Given the description of an element on the screen output the (x, y) to click on. 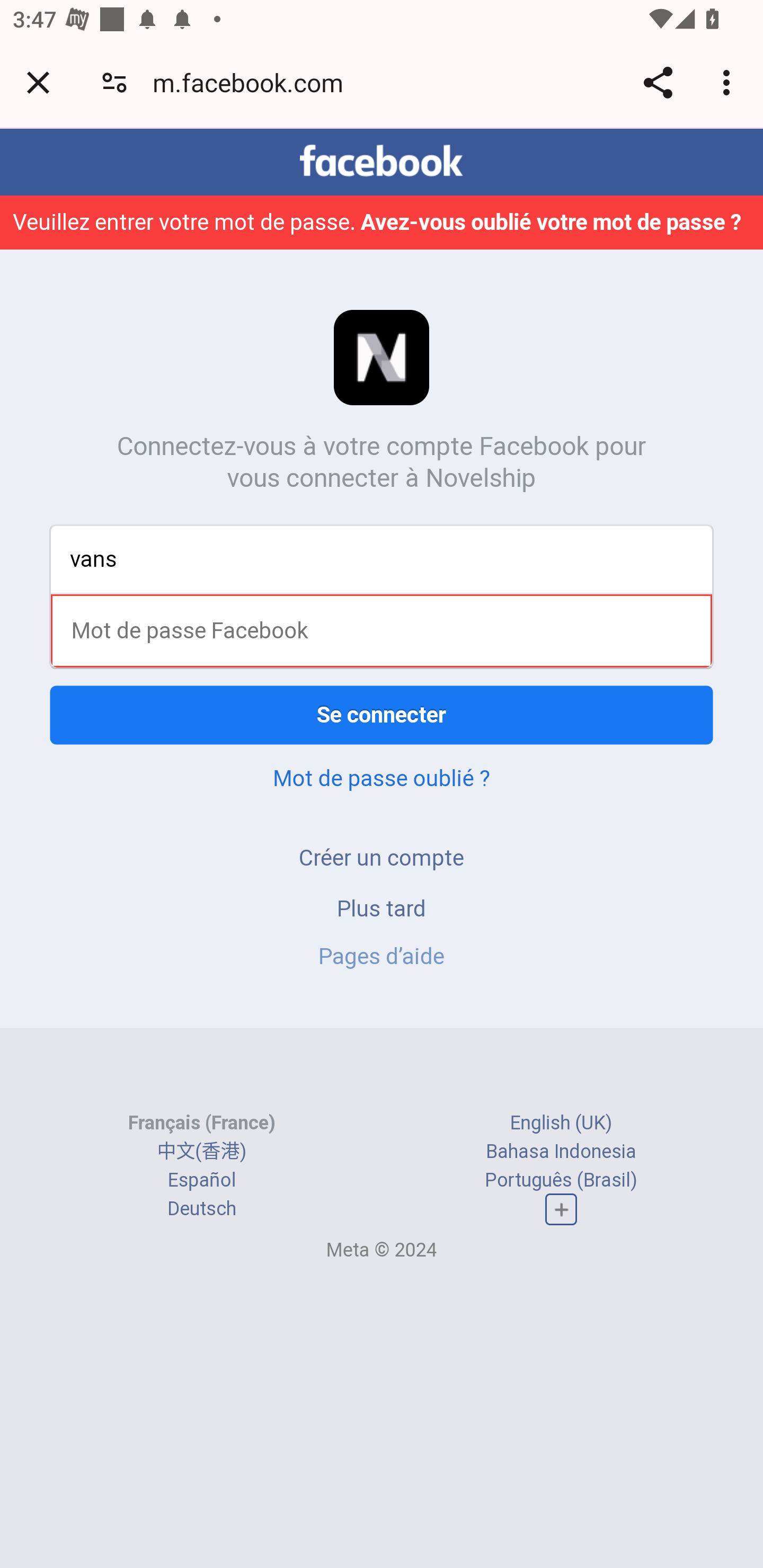
Close tab (38, 82)
Share (657, 82)
Customize and control Google Chrome (729, 82)
Connection is secure (114, 81)
m.facebook.com (254, 81)
facebook (381, 160)
Avez-vous oublié votre mot de passe ? (551, 221)
vans (381, 558)
Se connecter (381, 714)
Mot de passe oublié ? (381, 778)
Créer un compte (381, 856)
Plus tard (381, 908)
Pages d’aide (381, 955)
English (UK) (560, 1122)
中文(香港) (201, 1151)
Bahasa Indonesia (560, 1151)
Español (201, 1179)
Português (Brasil) (560, 1179)
Liste complète des langues (560, 1208)
Deutsch (201, 1207)
